Given the description of an element on the screen output the (x, y) to click on. 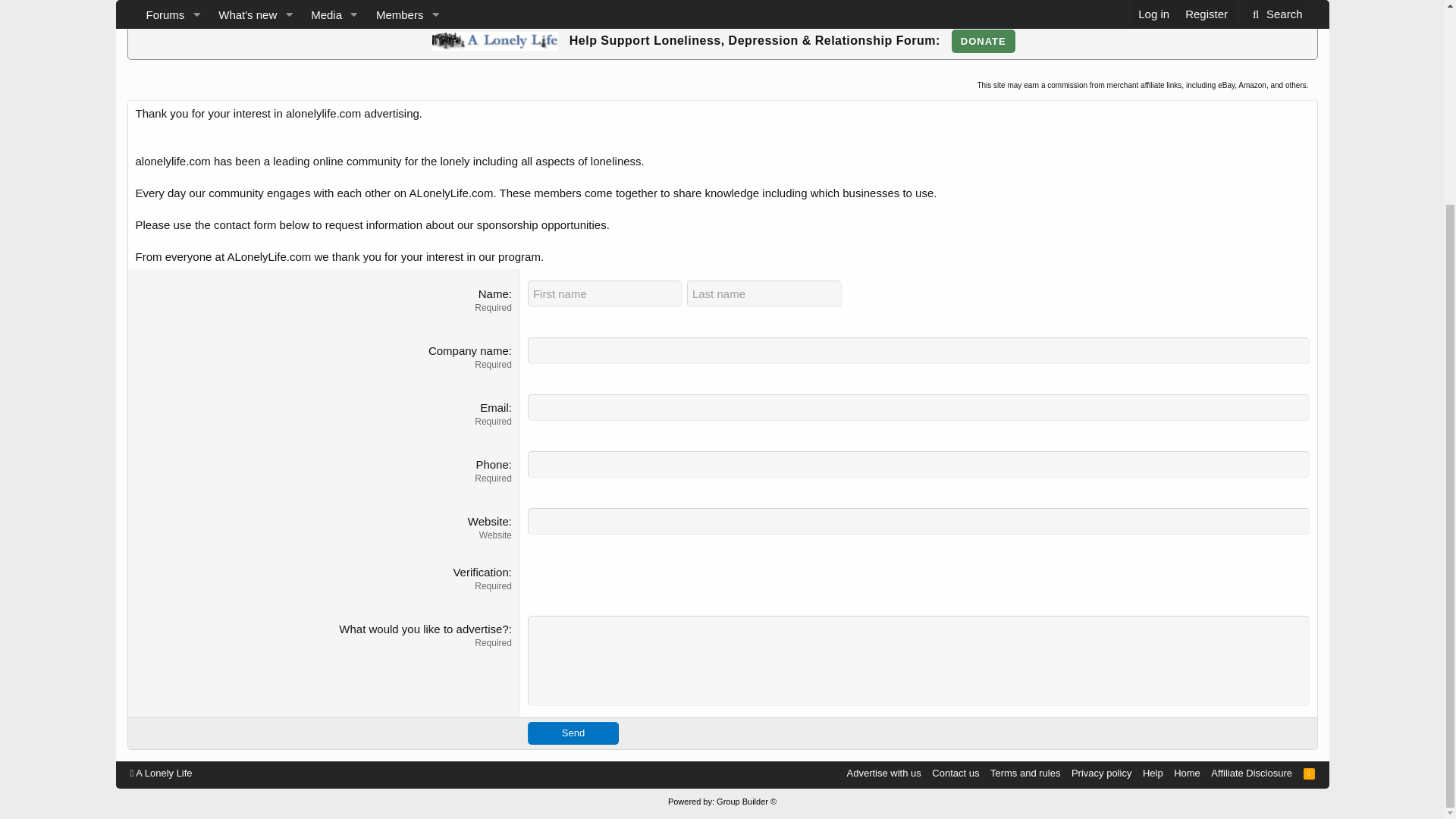
Style chooser (161, 772)
PayPal - The safer, easier way to pay online! (983, 41)
RSS (1308, 772)
Donate (983, 41)
Donate (983, 41)
Send (572, 732)
